Given the description of an element on the screen output the (x, y) to click on. 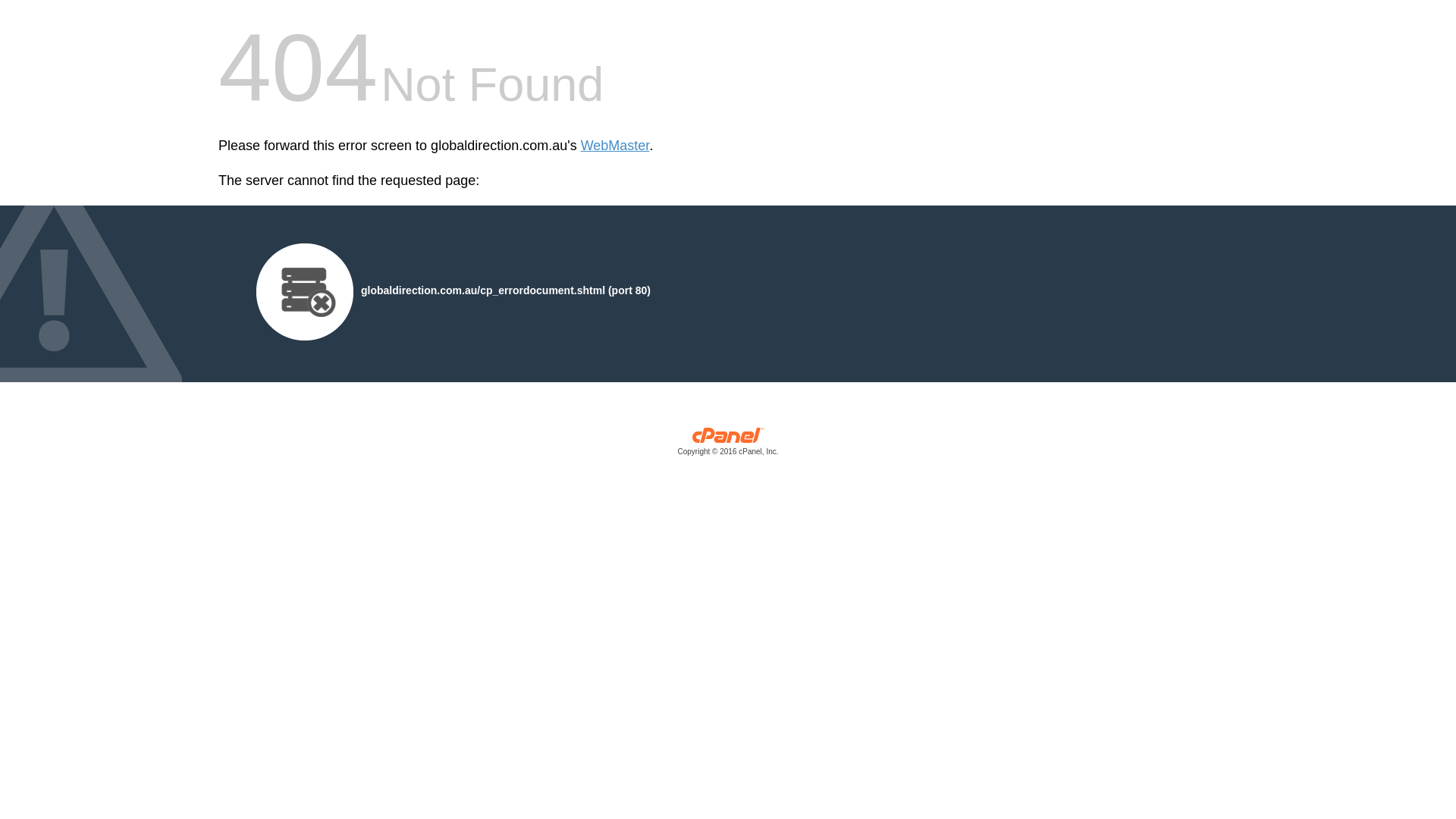
WebMaster Element type: text (614, 145)
